Given the description of an element on the screen output the (x, y) to click on. 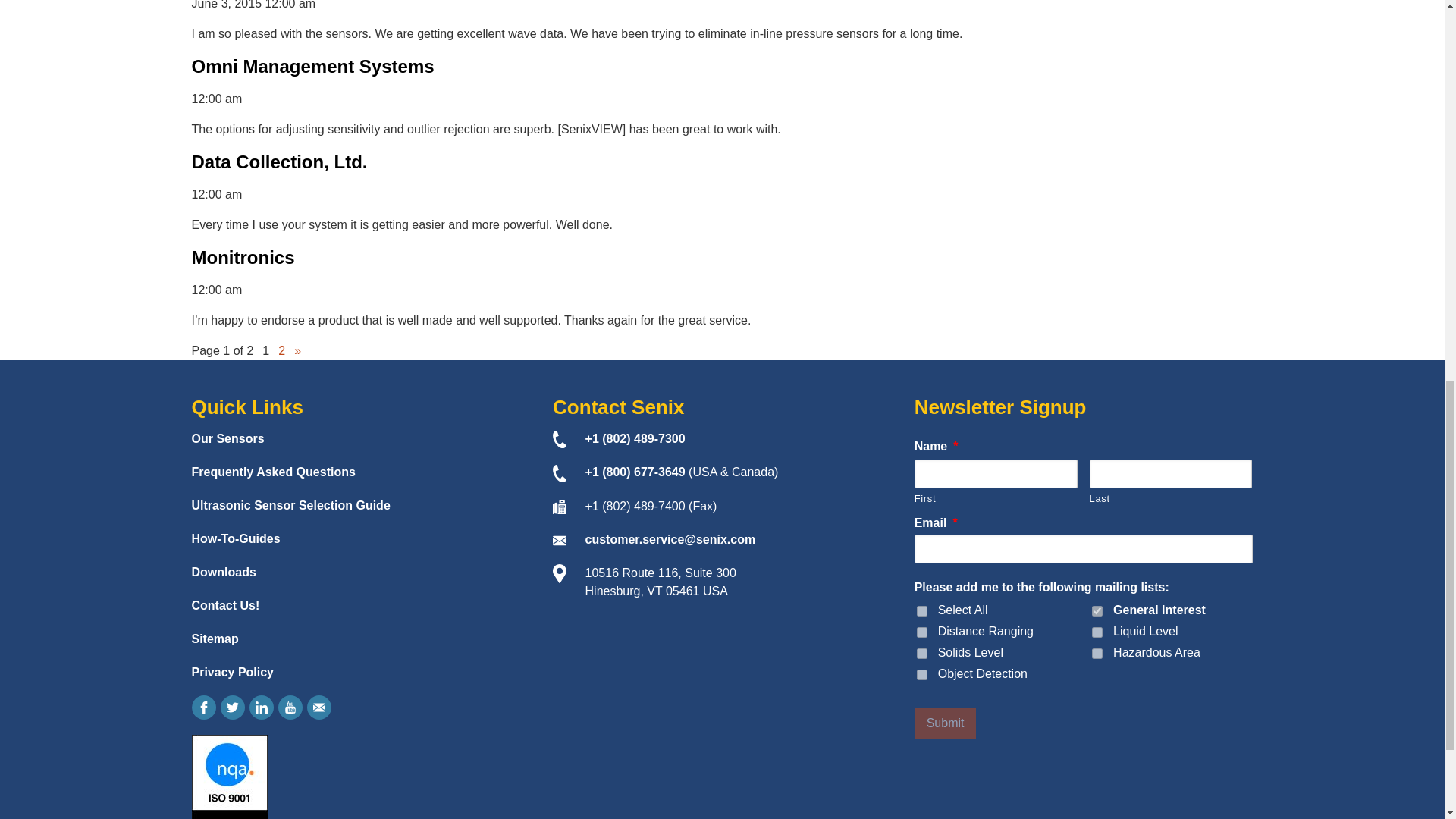
on (922, 611)
Submit (945, 723)
Y (922, 632)
nqa ISO 9001 (228, 776)
Permalink to Data Collection, Ltd. (278, 161)
Permalink to Omni Management Systems (311, 66)
Y (1097, 653)
18024897300 (635, 438)
Y (1097, 611)
Y (1097, 632)
Y (922, 653)
Permalink to Monitronics (242, 257)
Y (922, 674)
